Given the description of an element on the screen output the (x, y) to click on. 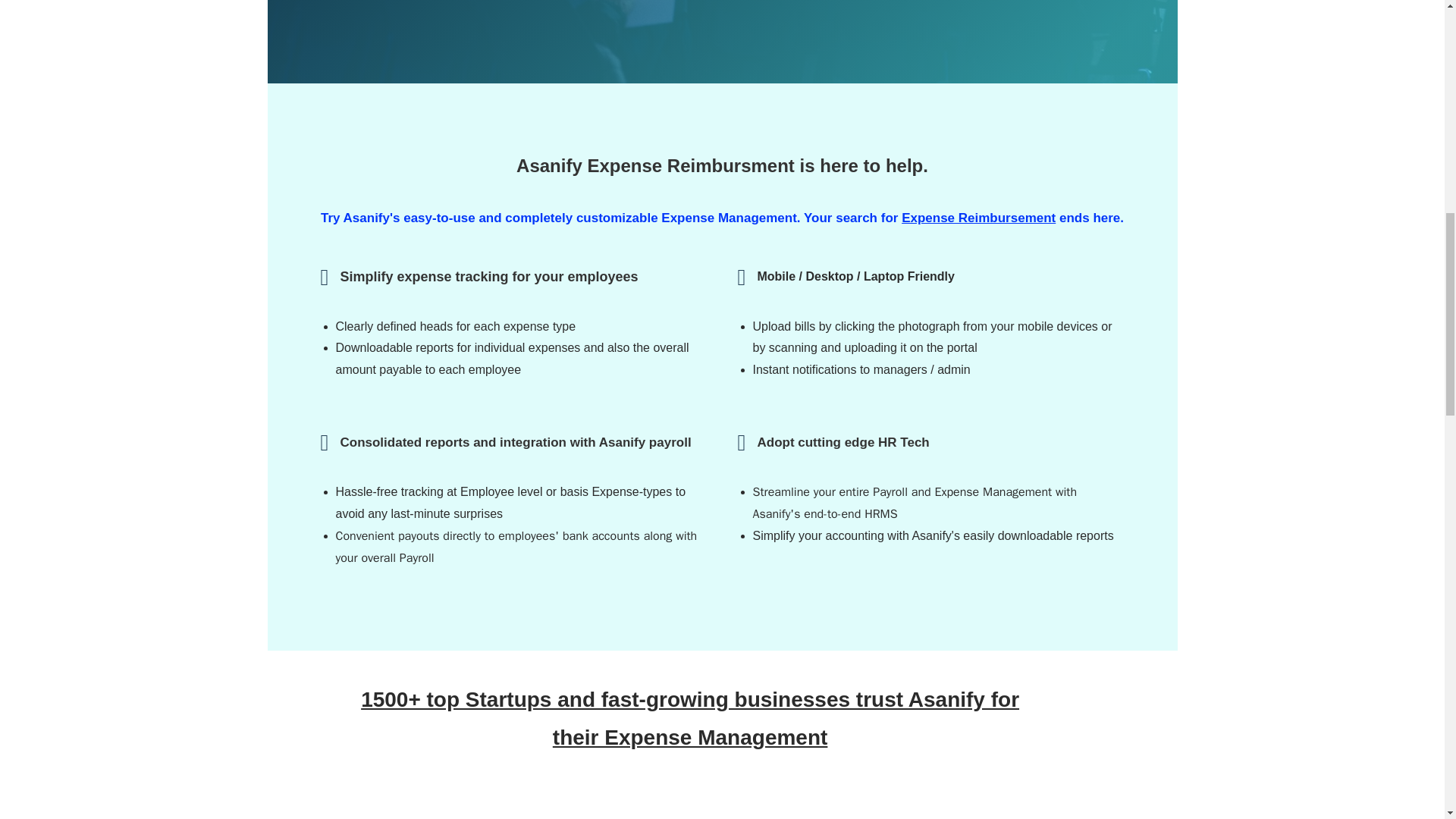
company names performance management system (688, 810)
company names performance management system (867, 811)
